Given the description of an element on the screen output the (x, y) to click on. 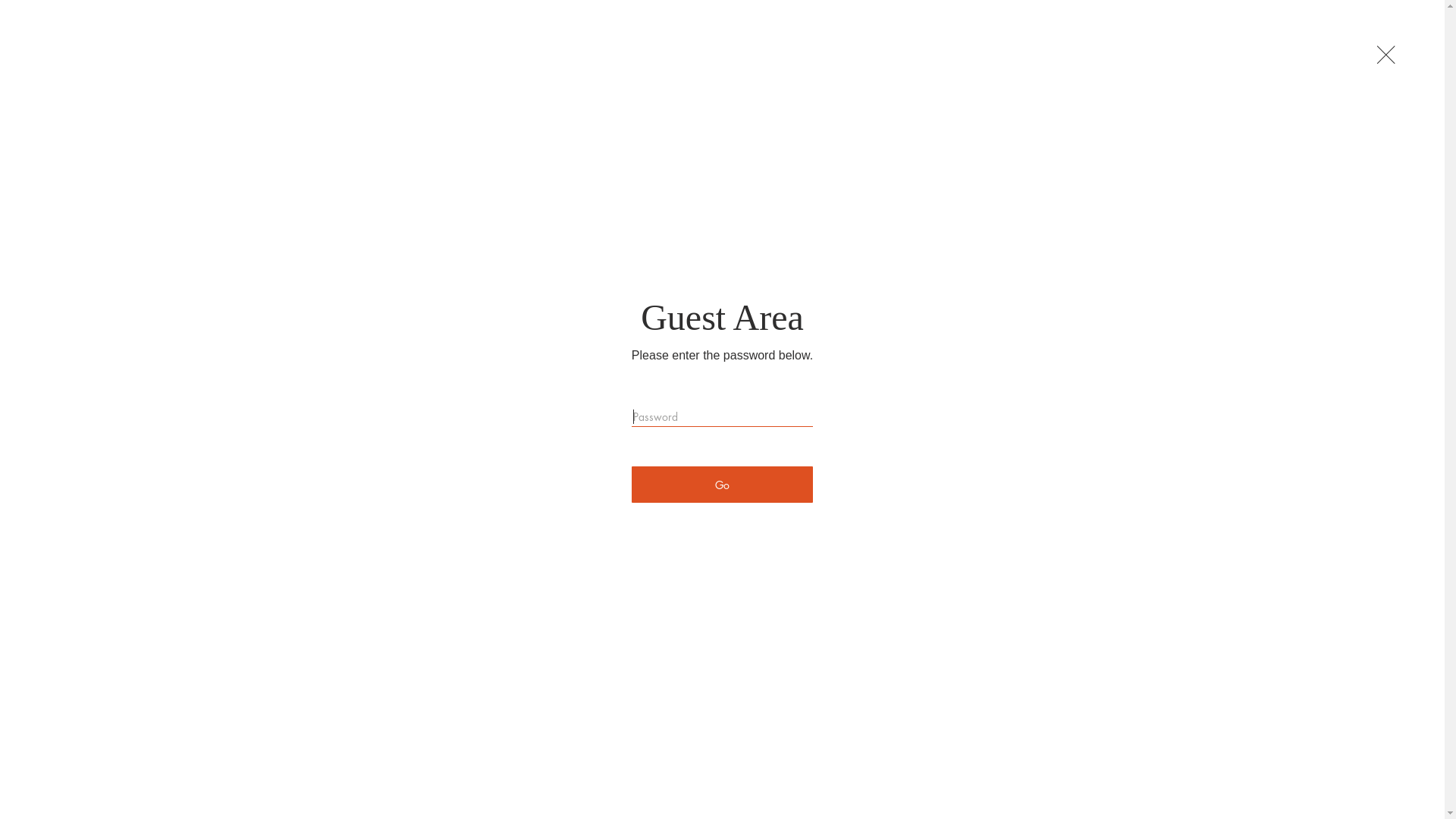
Go Element type: text (721, 484)
